Given the description of an element on the screen output the (x, y) to click on. 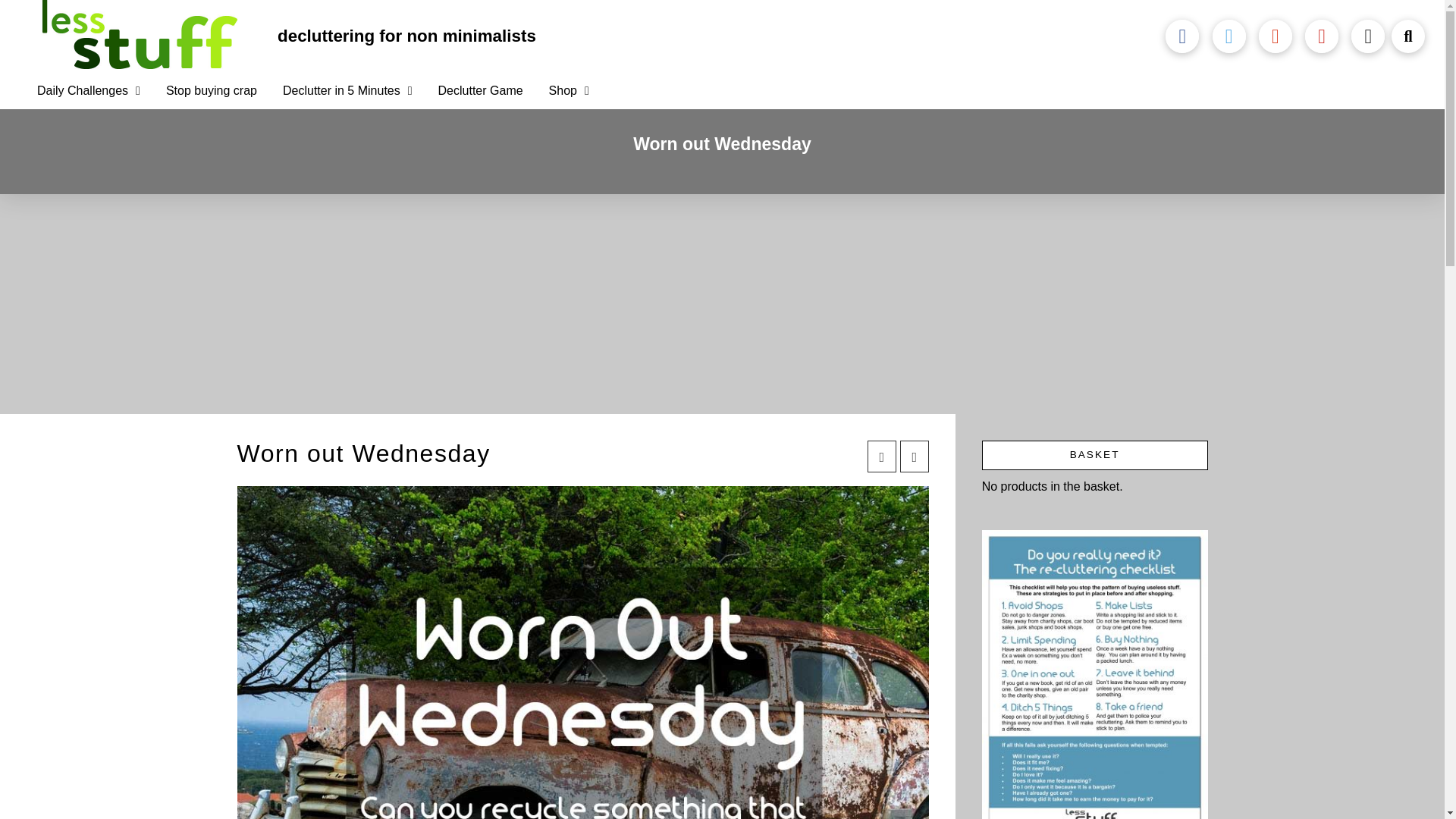
Shop (568, 90)
Declutter in 5 Minutes (347, 90)
Declutter Game (480, 90)
Stop buying crap (210, 90)
Daily Challenges (88, 90)
